Given the description of an element on the screen output the (x, y) to click on. 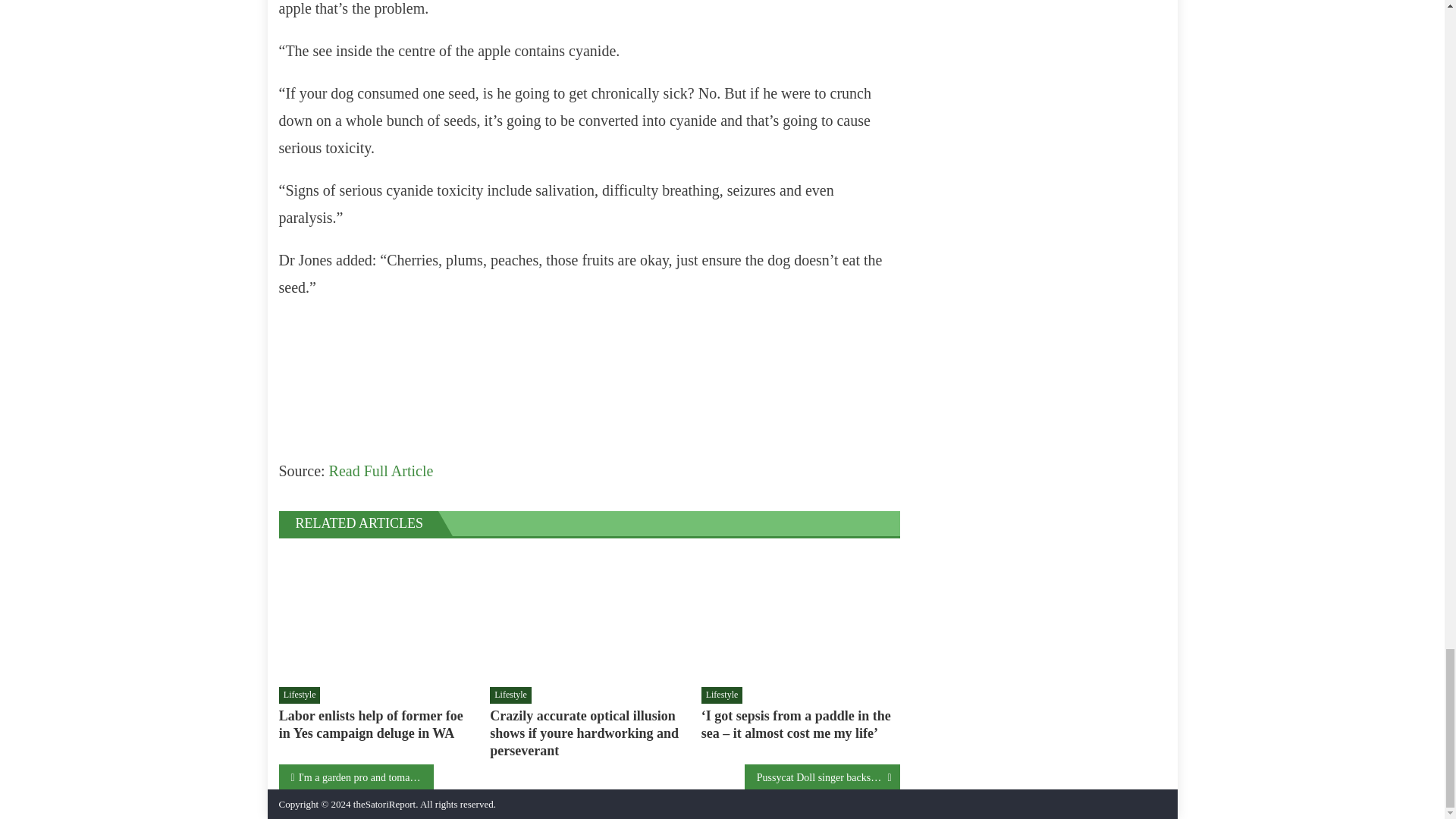
Lifestyle (299, 695)
Read Full Article (381, 470)
theSatoriReport (383, 803)
Lifestyle (721, 695)
theSatoriReport (383, 803)
